Given the description of an element on the screen output the (x, y) to click on. 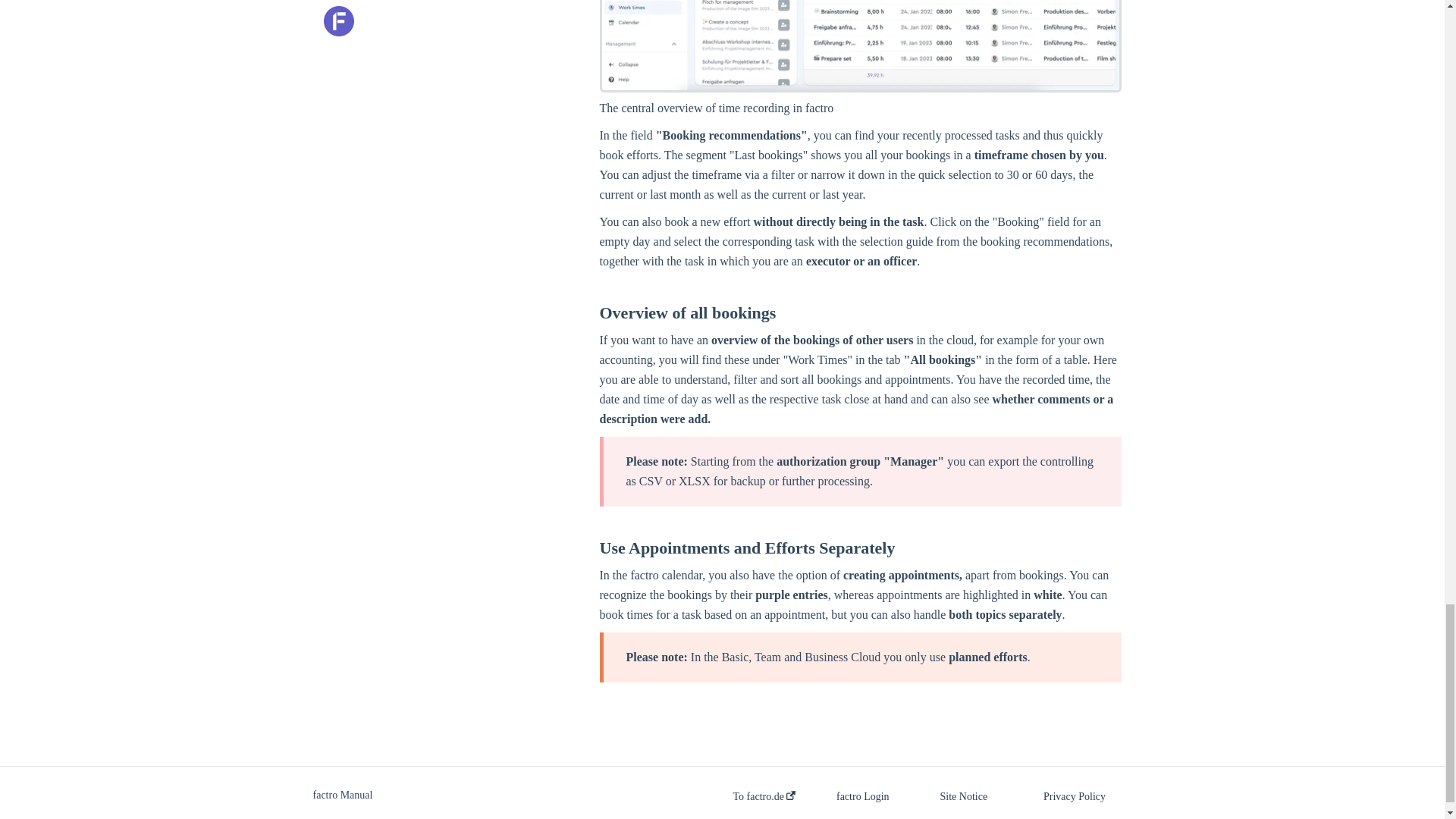
To factro.de (763, 797)
